Given the description of an element on the screen output the (x, y) to click on. 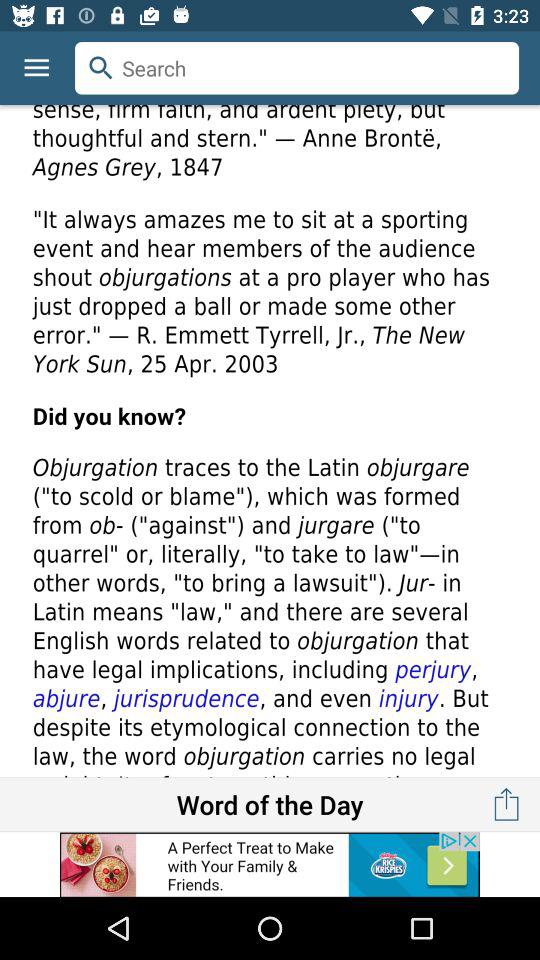
search page (270, 441)
